Given the description of an element on the screen output the (x, y) to click on. 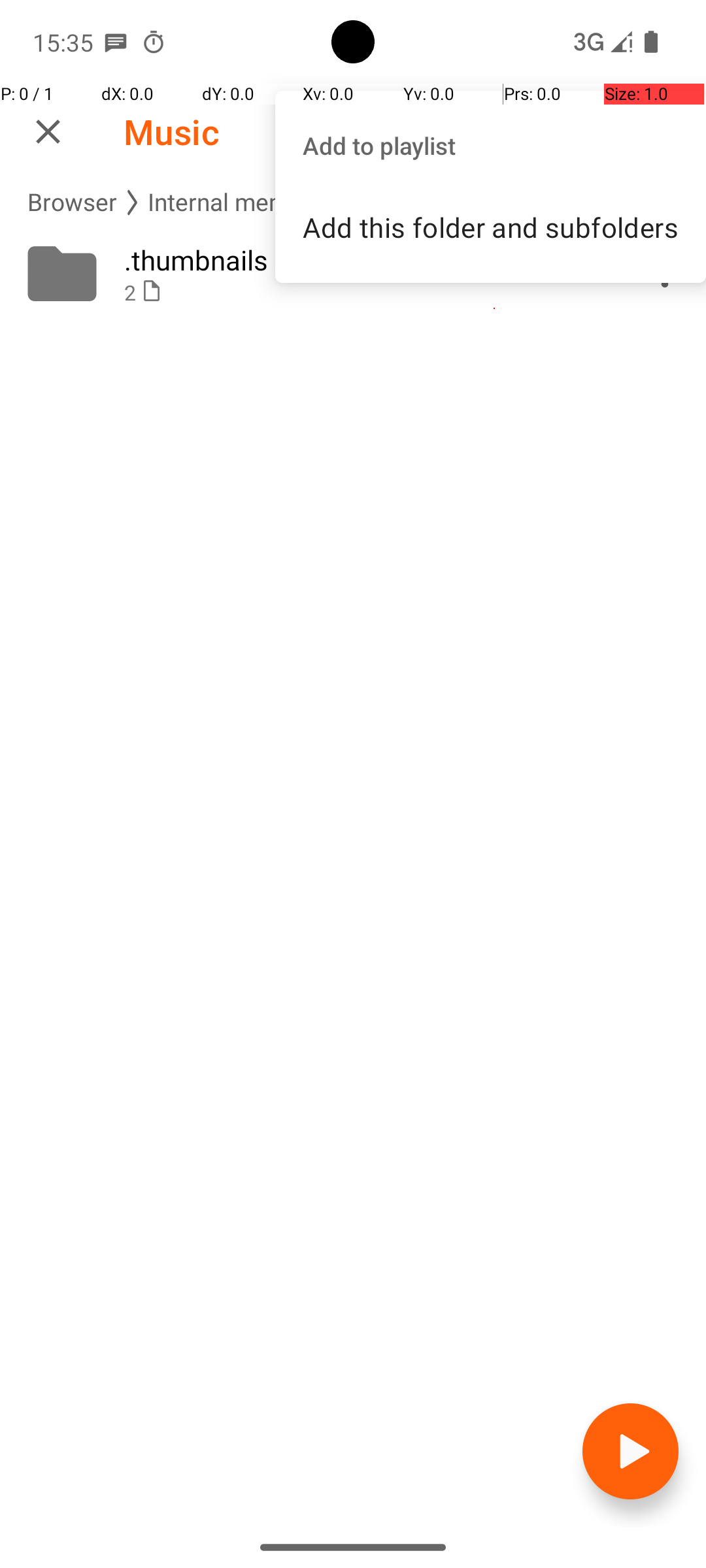
Add to playlist Element type: android.widget.TextView (490, 145)
Add this folder and subfolders Element type: android.widget.TextView (490, 226)
